Given the description of an element on the screen output the (x, y) to click on. 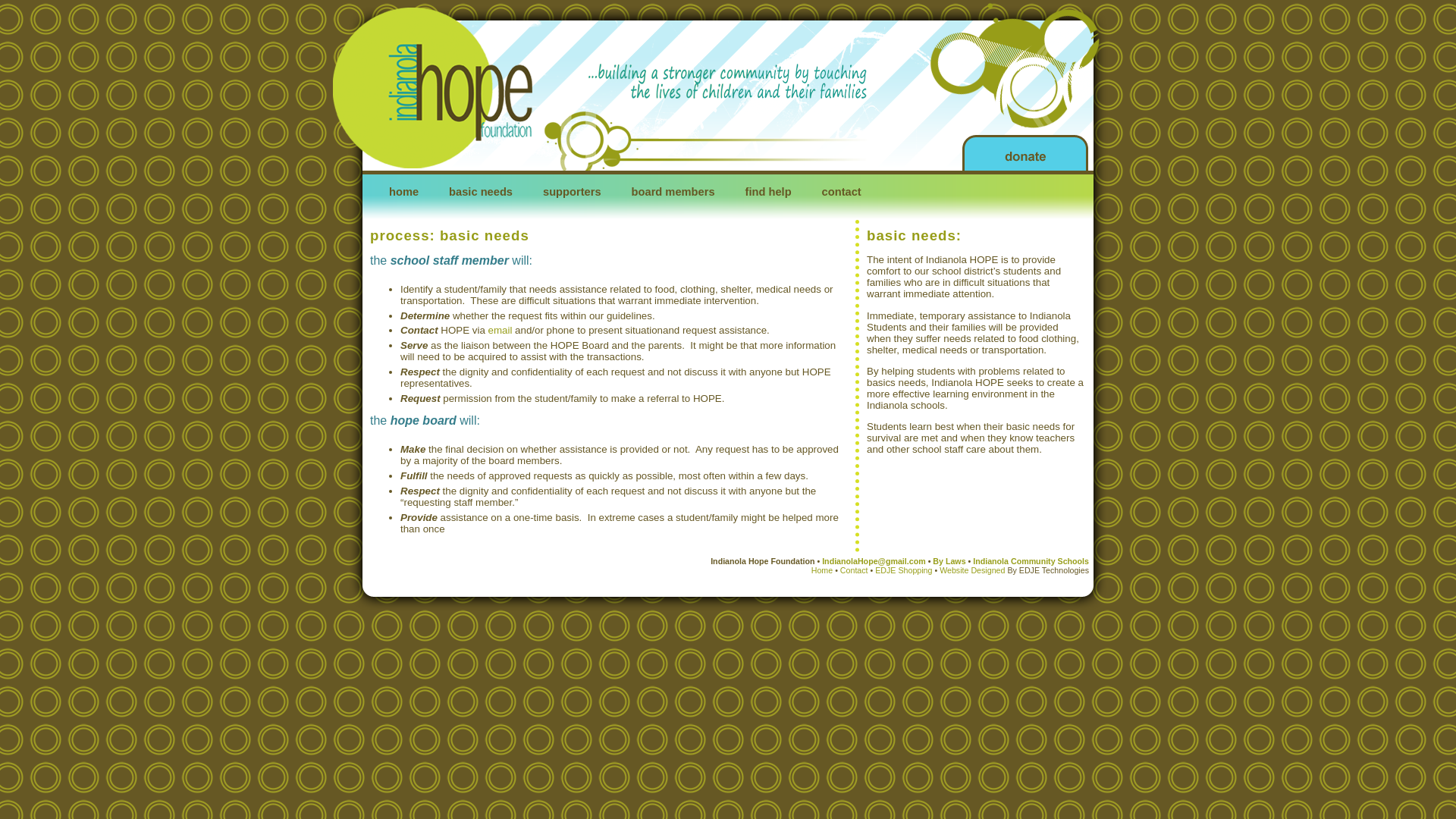
By Laws (947, 560)
find help (768, 195)
Indianola Community Schools (1030, 560)
EDJE Shopping (903, 569)
contact (841, 195)
Home (821, 569)
email (499, 329)
basic needs (480, 195)
board members (672, 195)
home (403, 195)
